Given the description of an element on the screen output the (x, y) to click on. 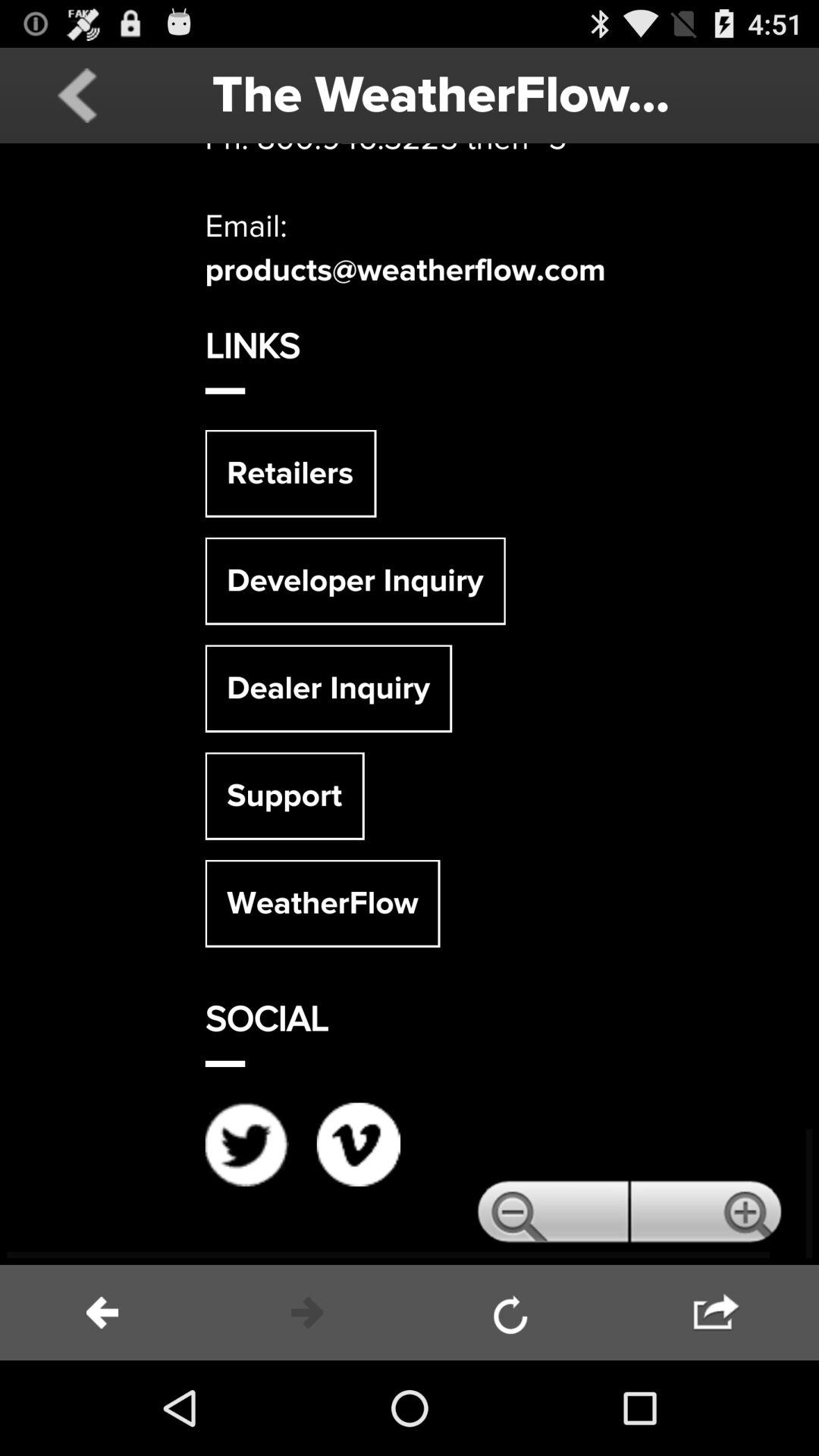
opens up app (409, 703)
